Given the description of an element on the screen output the (x, y) to click on. 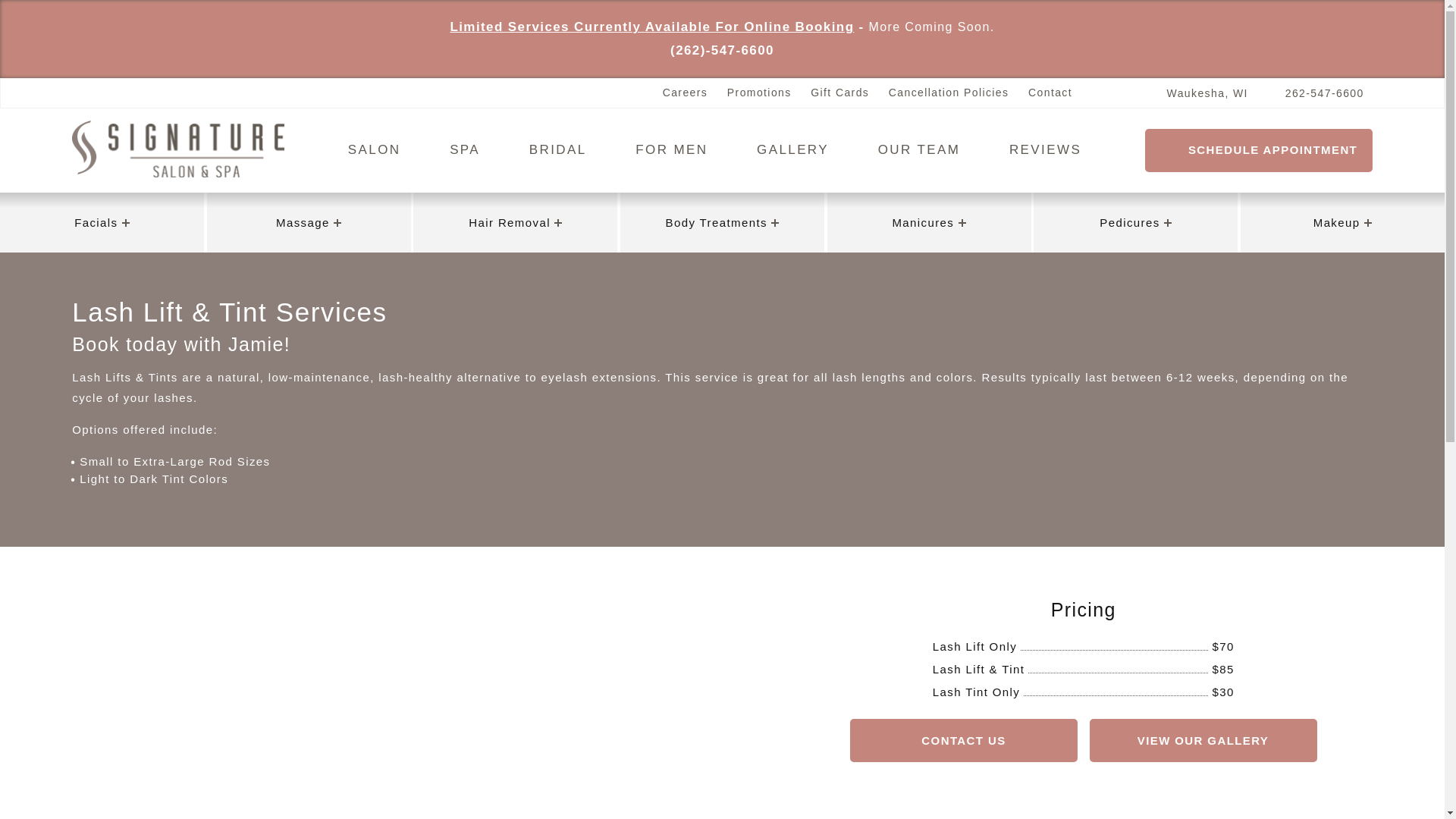
Waukesha, WI (1197, 92)
262-547-6600 (1314, 92)
Cancellation Policies (948, 92)
SALON (374, 149)
Body Treatments (722, 222)
FOR MEN (671, 149)
OUR TEAM (919, 149)
Careers (684, 92)
GALLERY (792, 149)
